Given the description of an element on the screen output the (x, y) to click on. 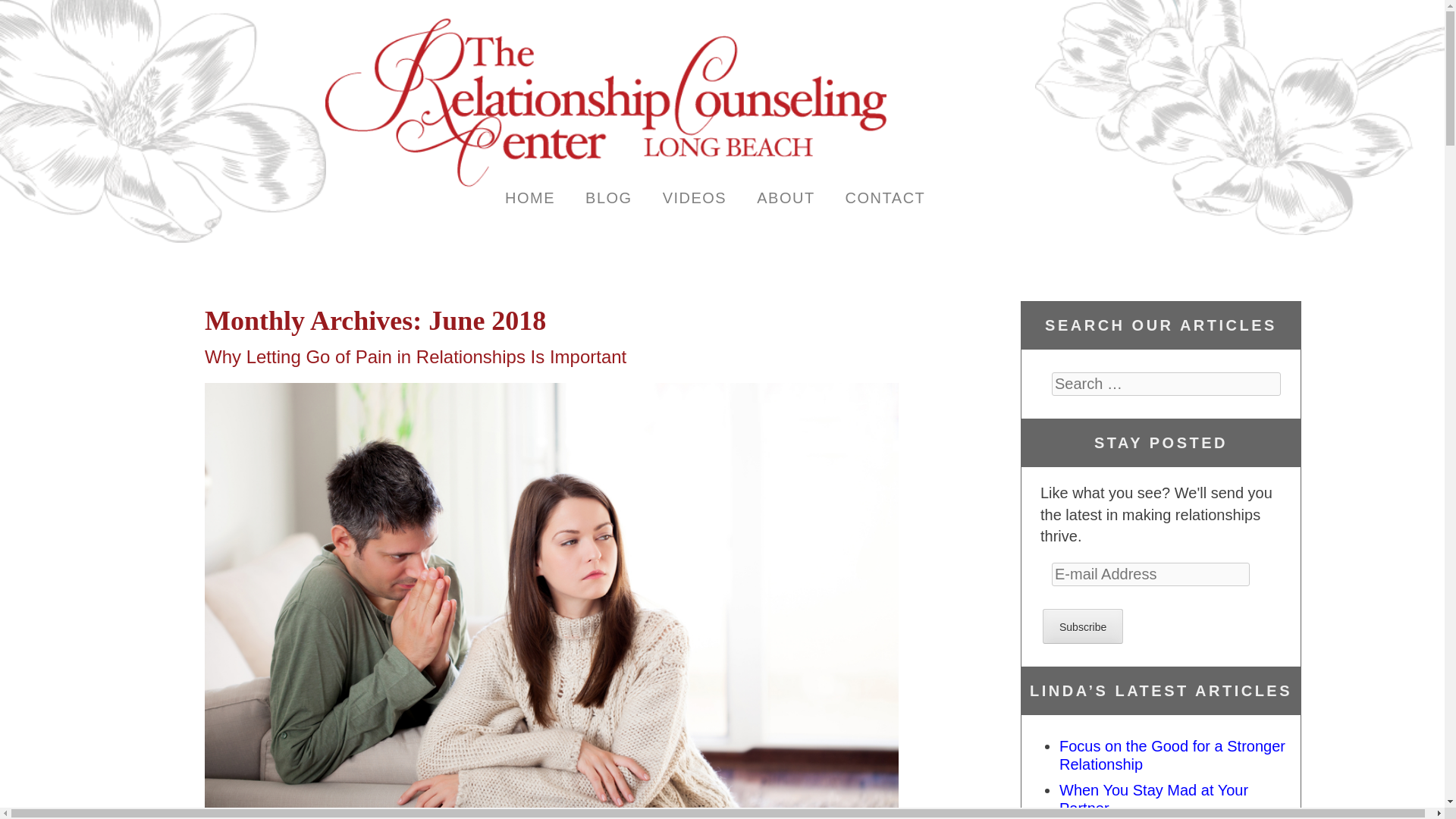
Relationship Counseling Articles by Linda Nusbaum (608, 196)
Navigation Menu (381, 226)
VIDEOS (694, 196)
Skip to content (398, 221)
CONTACT (884, 196)
ABOUT (785, 196)
HOME (529, 196)
BLOG (608, 196)
Why Letting Go of Pain in Relationships Is Important (415, 356)
About The Relationship Counseling Center of Long Beach (785, 196)
Relationship Counseling Center of Long Beach (605, 184)
Subscribe (1082, 626)
Skip to content (398, 221)
Couples Counseling in Long Beach (529, 196)
